Given the description of an element on the screen output the (x, y) to click on. 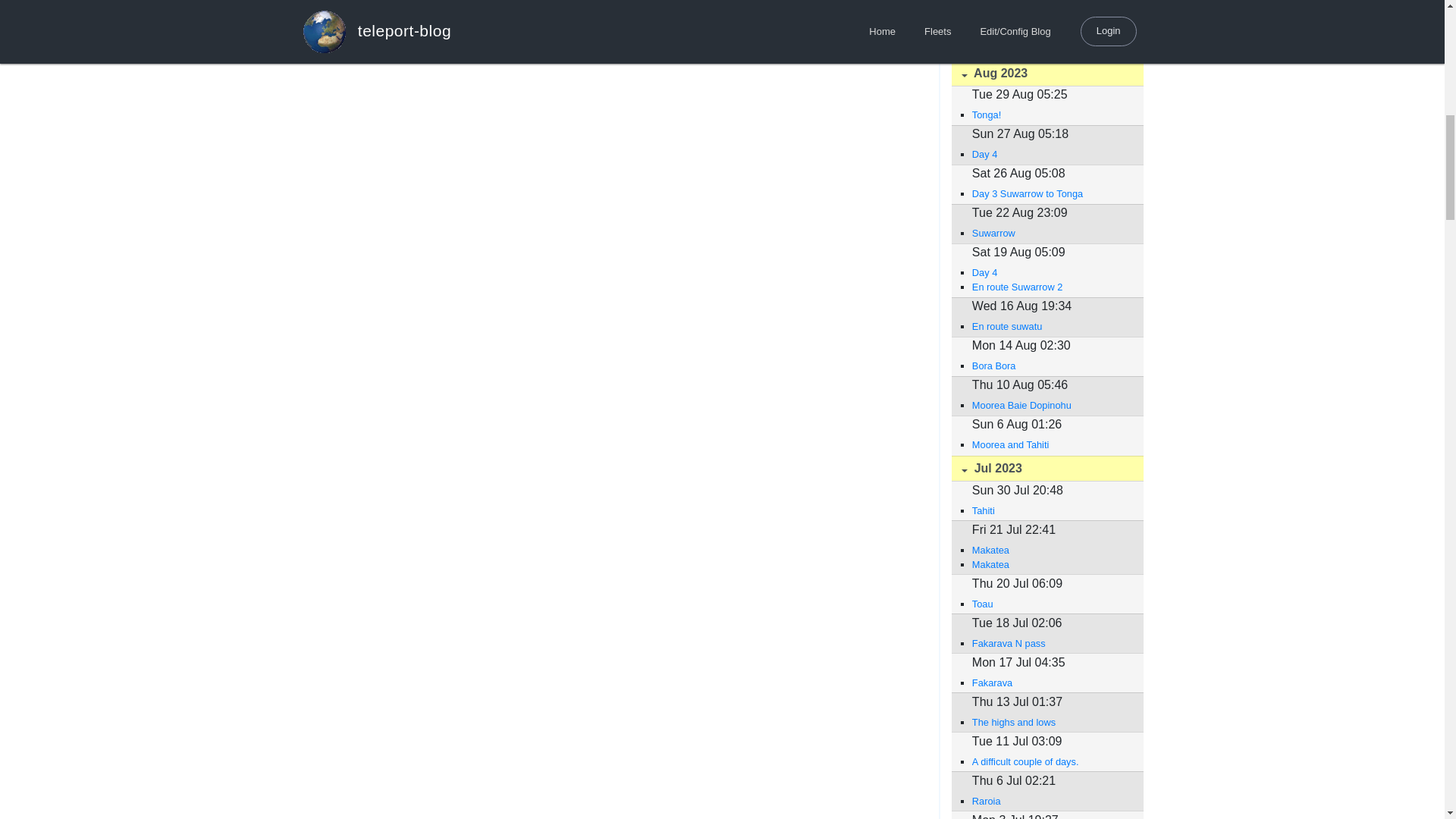
Foelifuka island (1050, 34)
Avalu island (1050, 49)
Tonga to Fiji (1050, 1)
Tonga! (1050, 114)
Aug 2023 (1046, 72)
